Given the description of an element on the screen output the (x, y) to click on. 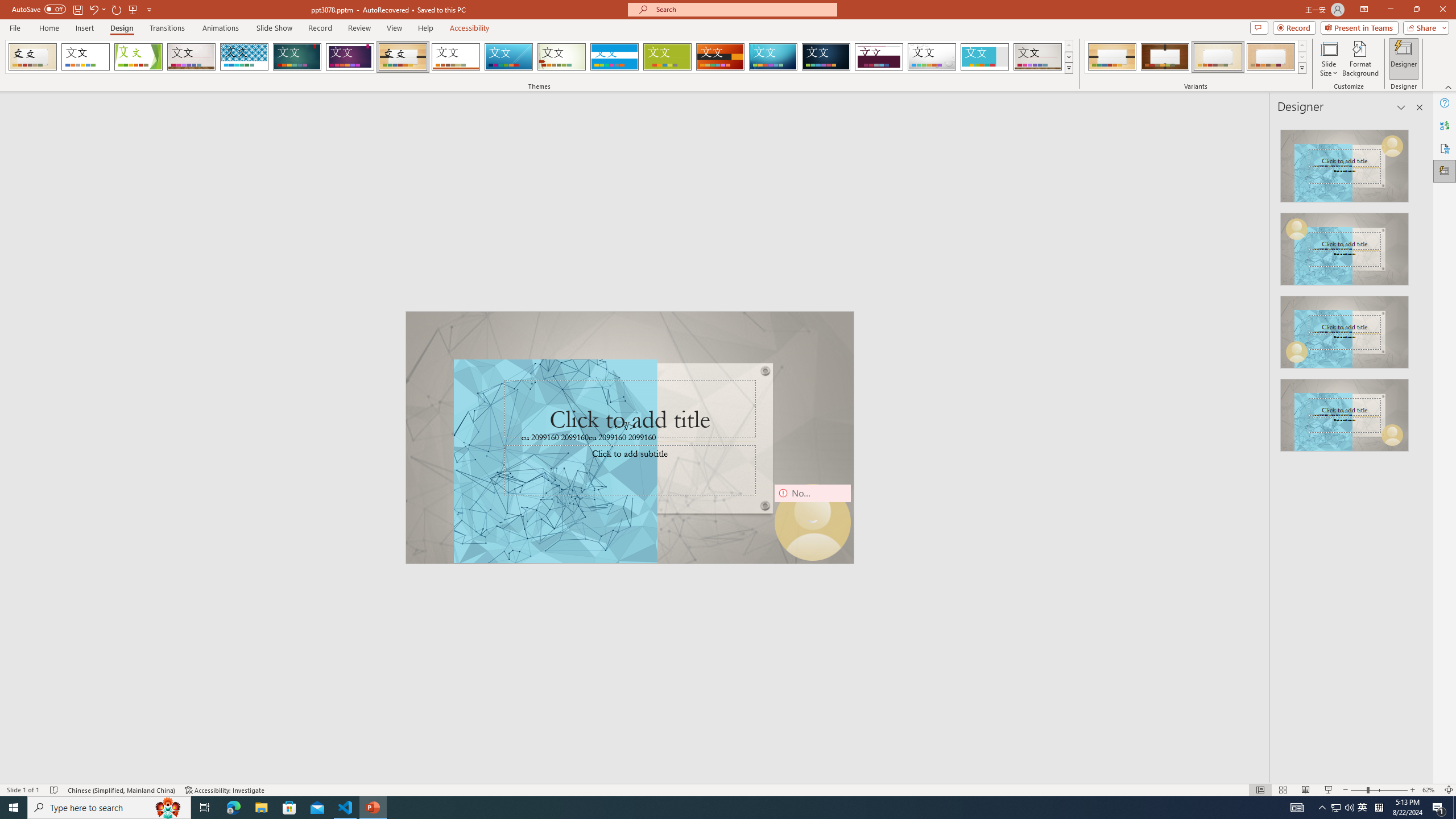
Source Control (Ctrl+Shift+G) (76, 309)
Explorer (Ctrl+Shift+E) (76, 221)
Wikipedia, the free encyclopedia (247, 78)
Class: next-menu next-hoz widgets--iconMenu--BFkiHRM (1371, 114)
UTF-8 (1313, 766)
Maximize Panel Size (1401, 533)
Run or Debug... (1350, 182)
LF (1352, 766)
Notification Actions (1406, 686)
Gmail (362, 78)
